Given the description of an element on the screen output the (x, y) to click on. 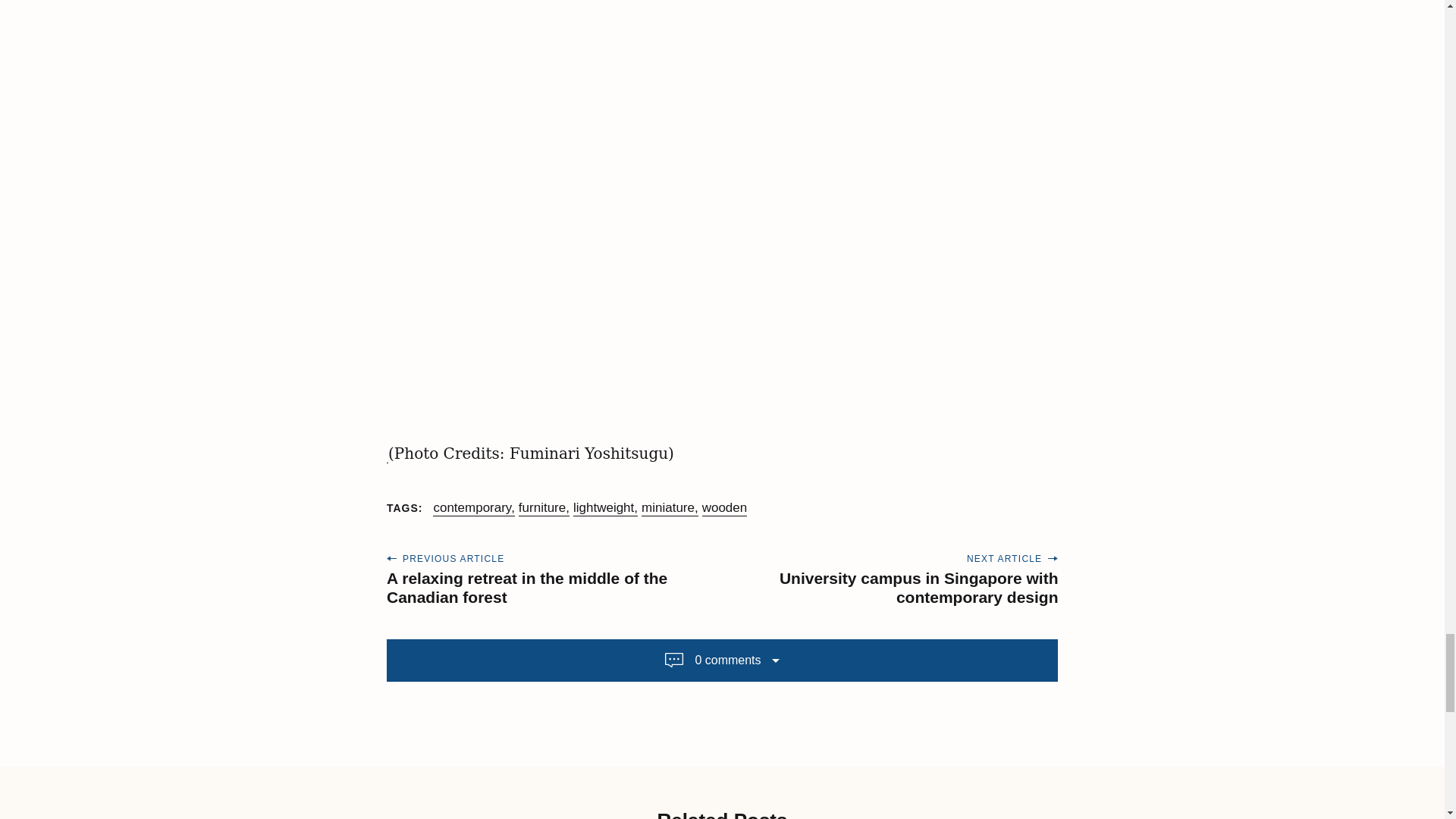
furniture (543, 508)
wooden (724, 508)
miniature (670, 508)
lightweight (605, 508)
contemporary (472, 508)
University campus in Singapore with contemporary design (918, 587)
A relaxing retreat in the middle of the Canadian forest (526, 587)
